Given the description of an element on the screen output the (x, y) to click on. 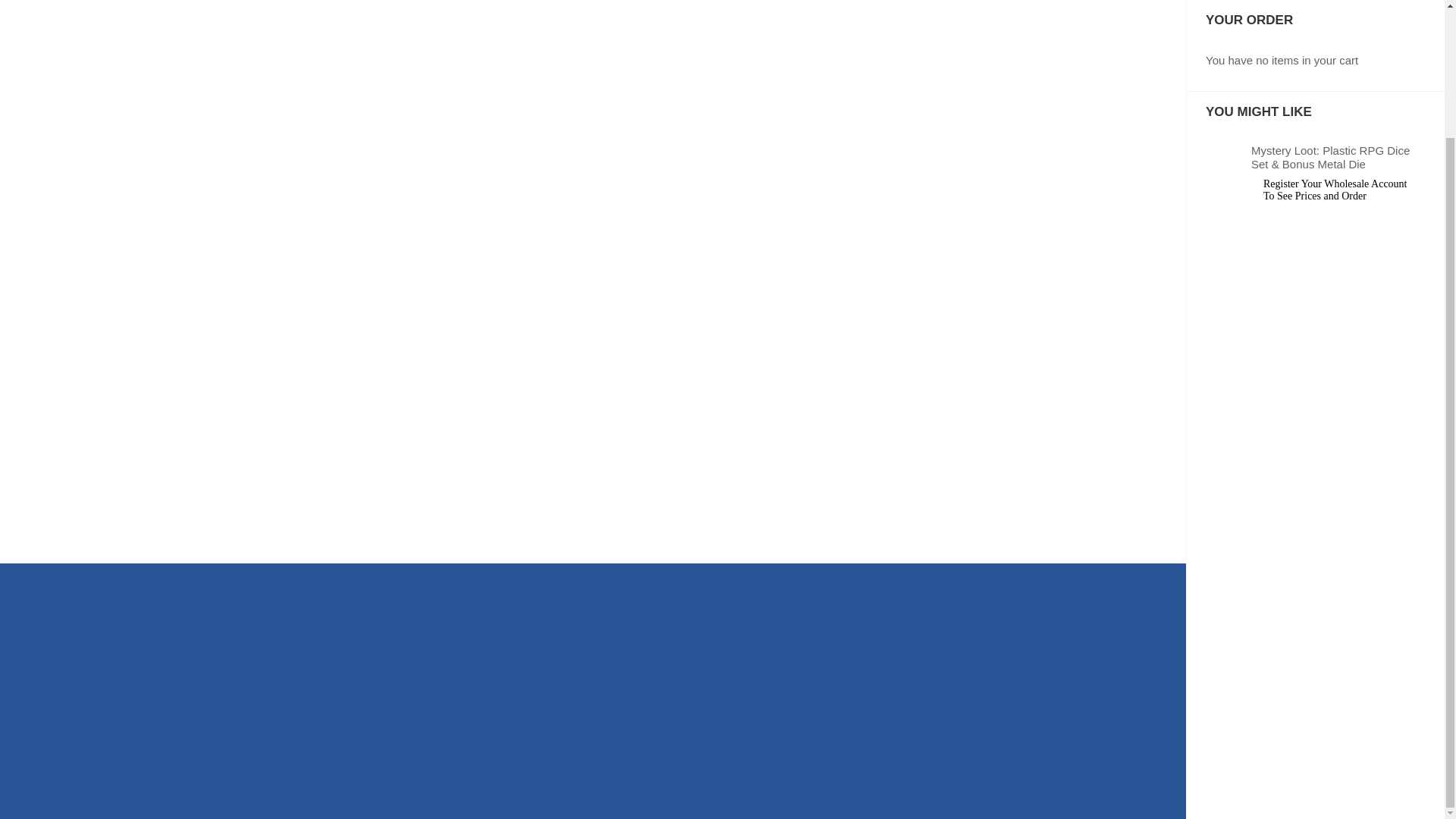
Register Your Wholesale Account To See Prices and Order (1337, 35)
